Given the description of an element on the screen output the (x, y) to click on. 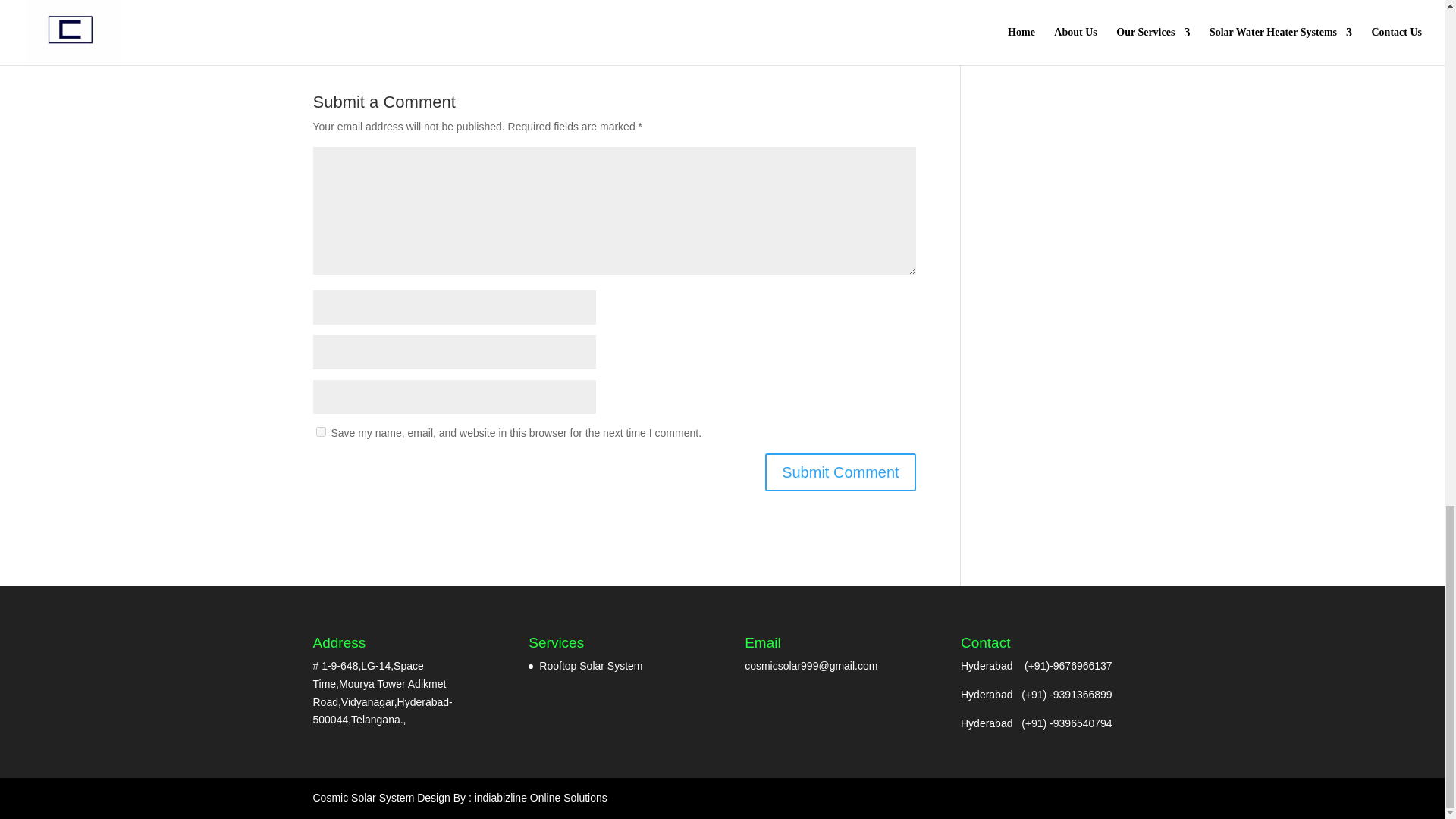
Submit Comment (840, 472)
Submit Comment (840, 472)
yes (319, 431)
